Given the description of an element on the screen output the (x, y) to click on. 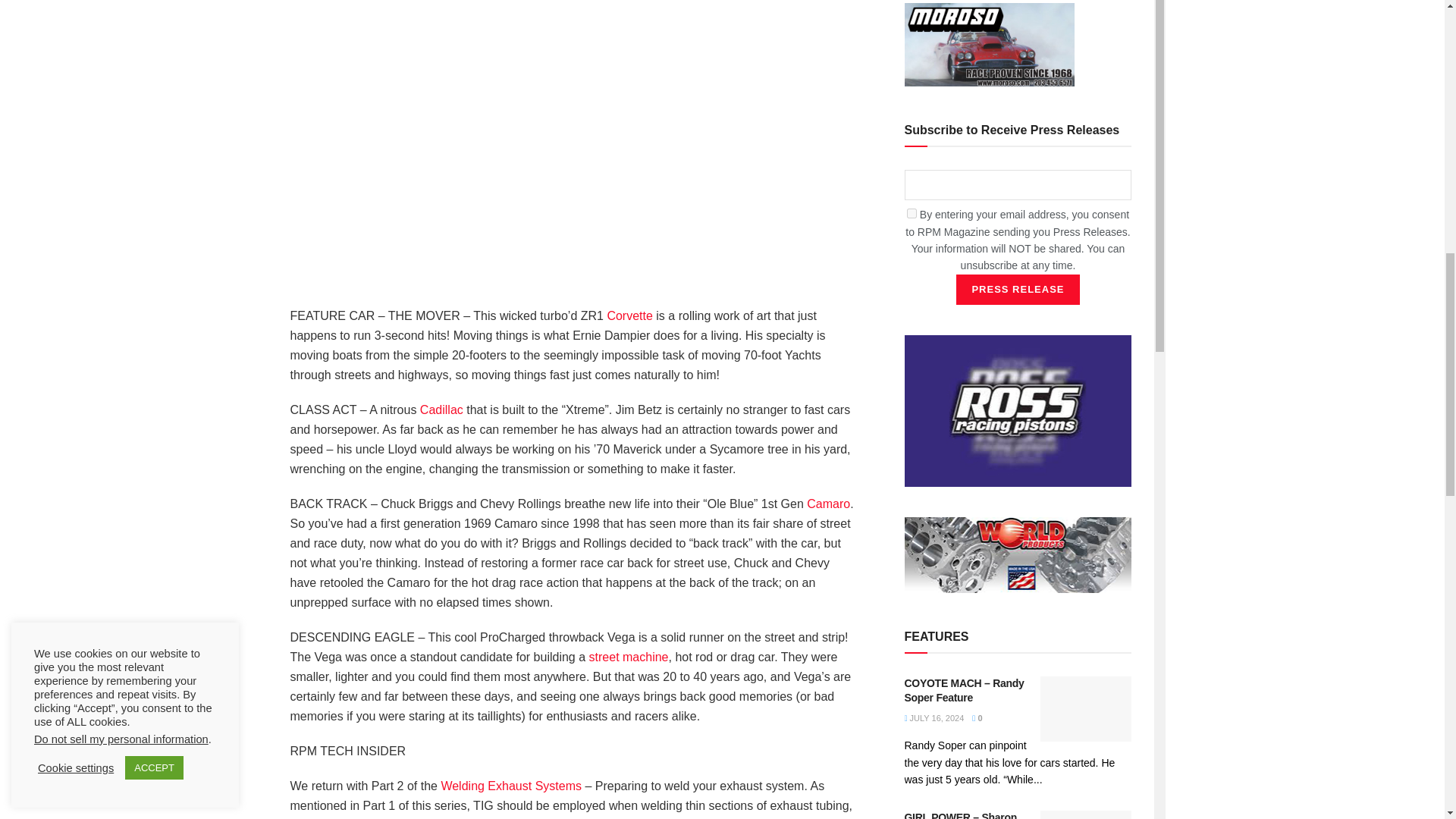
true (912, 213)
Press Release (1017, 289)
